Given the description of an element on the screen output the (x, y) to click on. 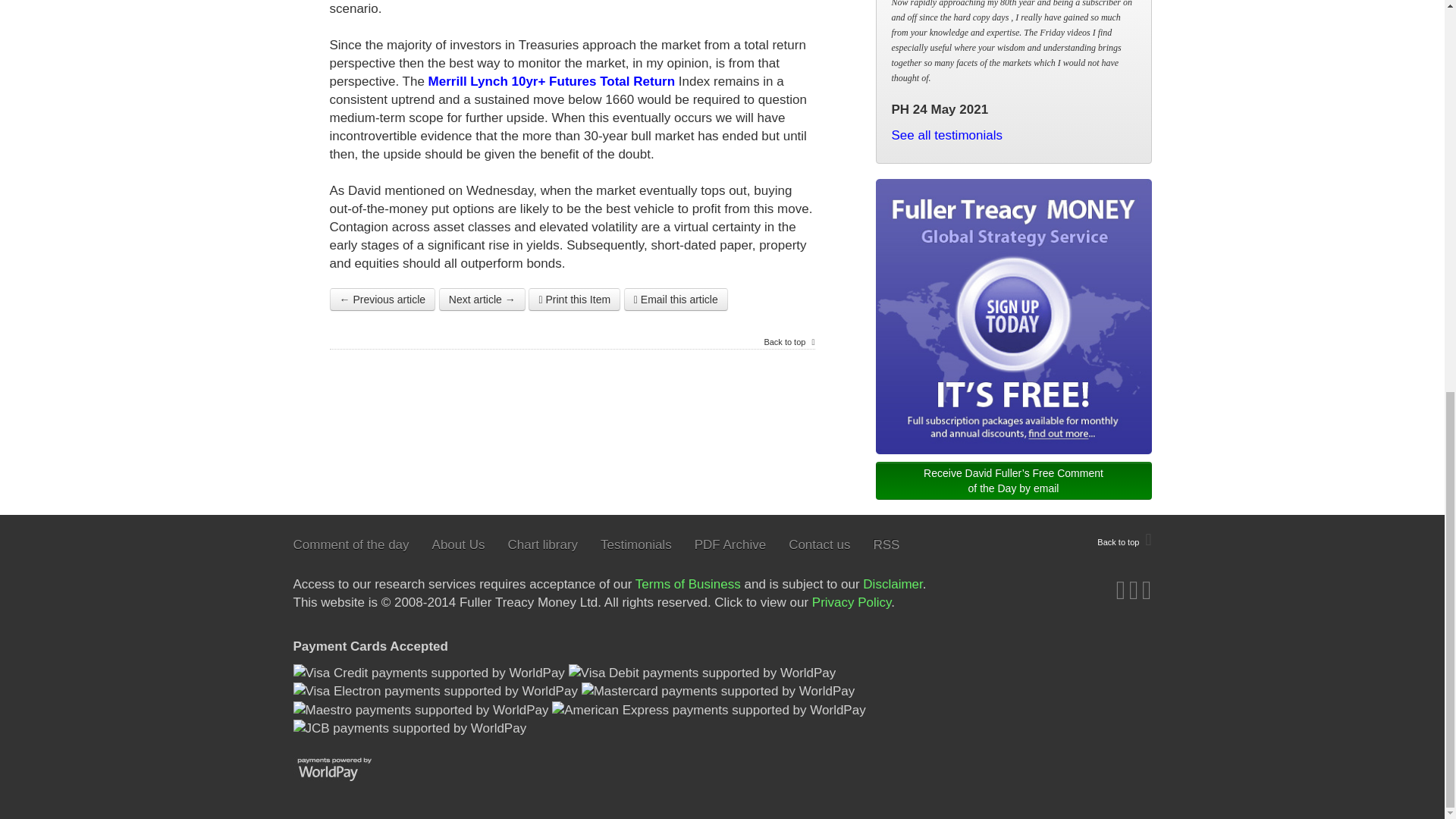
Back to top (1124, 540)
Back to top (787, 342)
